Given the description of an element on the screen output the (x, y) to click on. 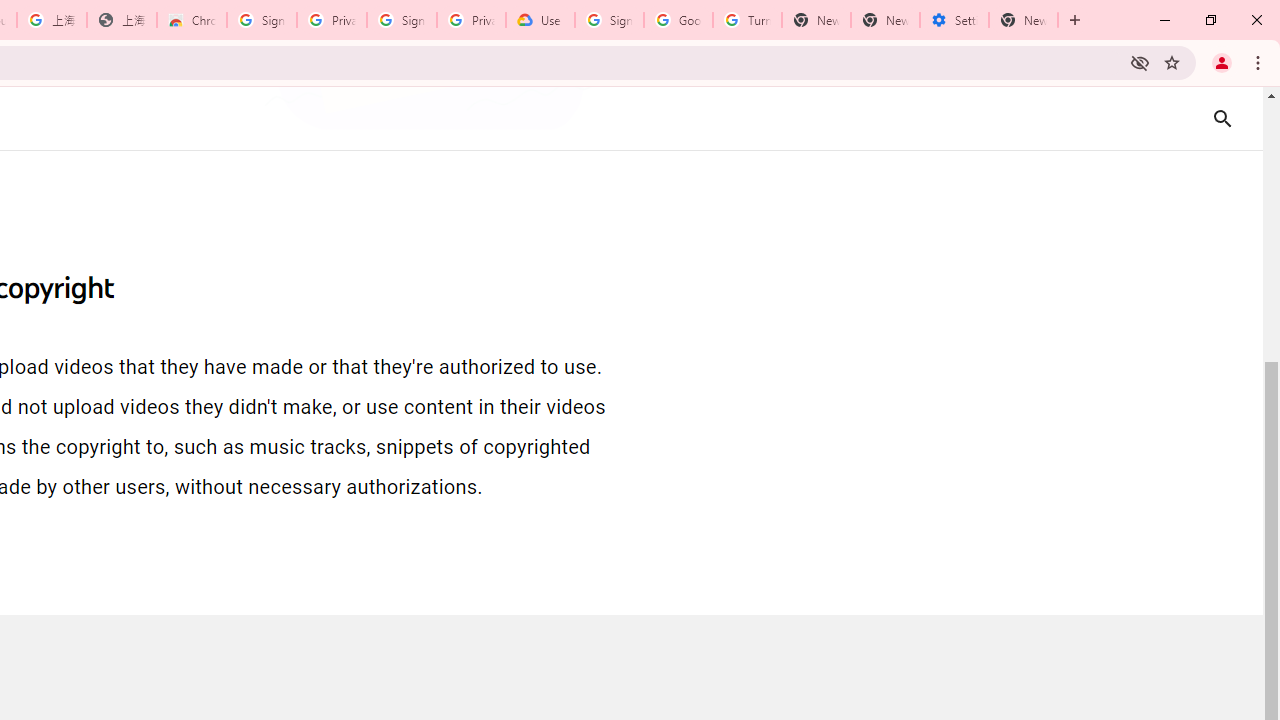
Chrome Web Store - Color themes by Chrome (191, 20)
Third-party cookies blocked (1139, 62)
Google Account Help (677, 20)
Sign in - Google Accounts (261, 20)
